Given the description of an element on the screen output the (x, y) to click on. 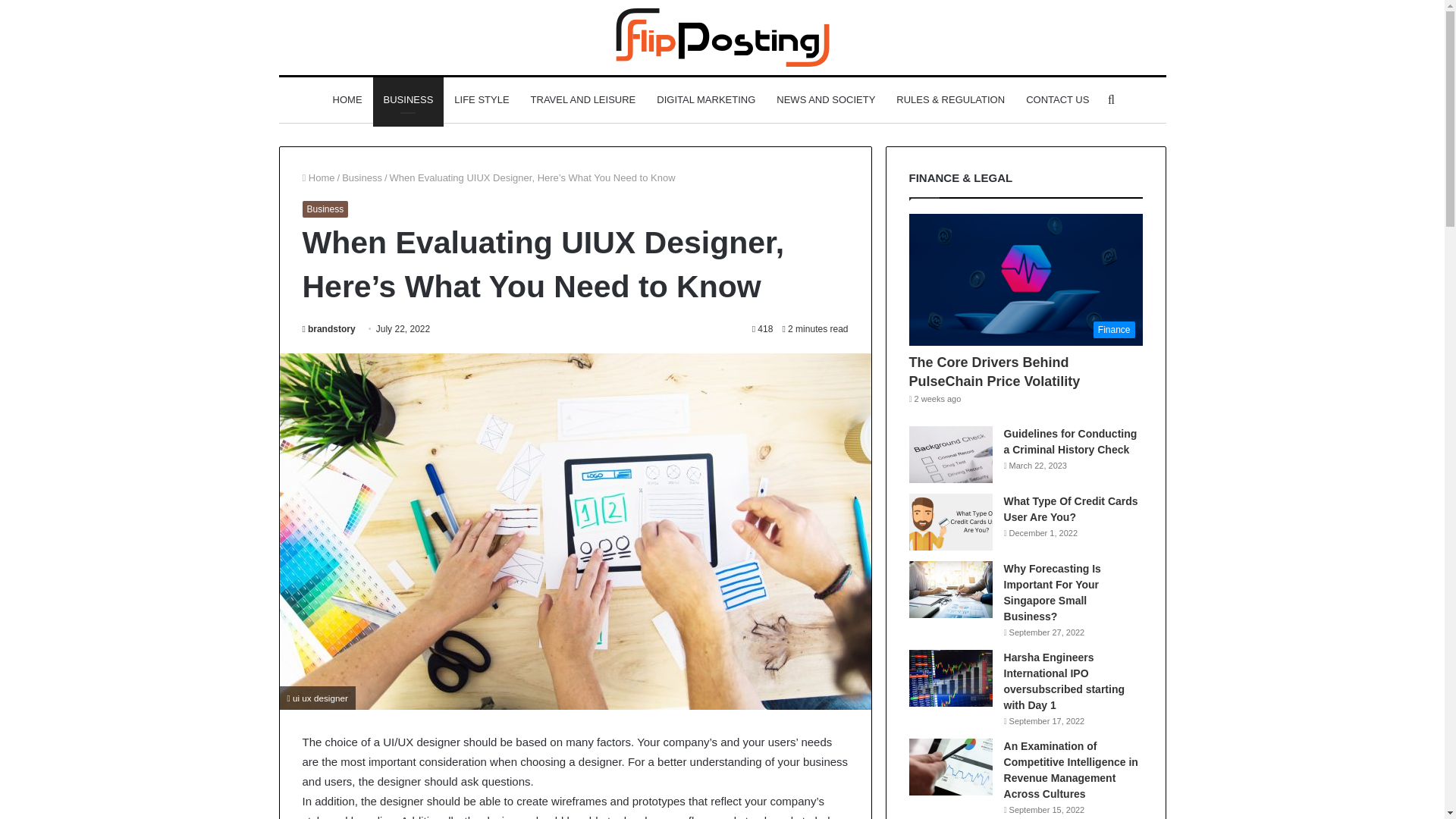
DIGITAL MARKETING (705, 99)
Business (361, 177)
CONTACT US (1056, 99)
BUSINESS (408, 99)
NEWS AND SOCIETY (825, 99)
brandstory (328, 328)
Business (324, 208)
HOME (346, 99)
LIFE STYLE (481, 99)
Flip Posting (722, 37)
